Given the description of an element on the screen output the (x, y) to click on. 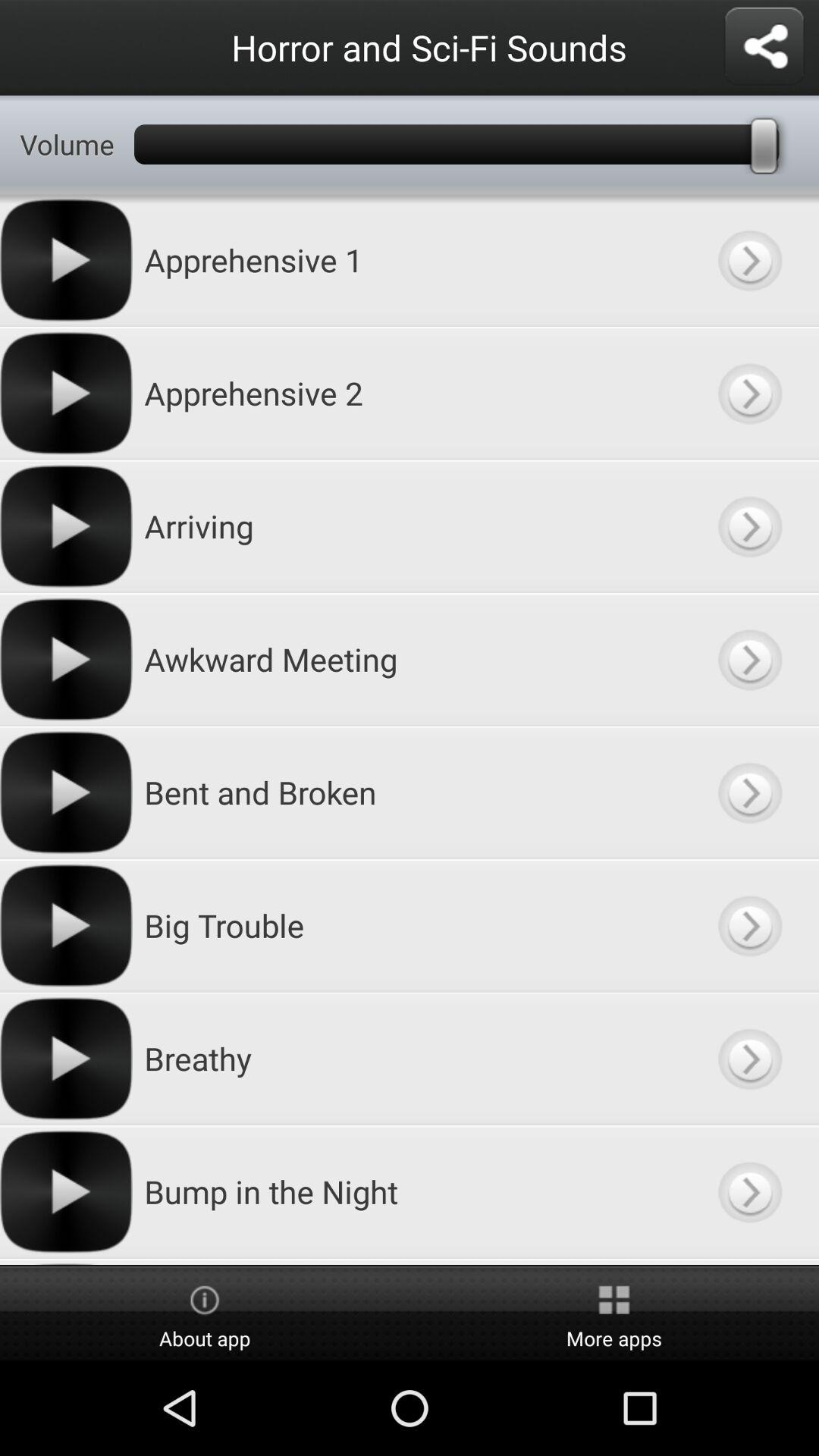
scroll right (749, 1261)
